Given the description of an element on the screen output the (x, y) to click on. 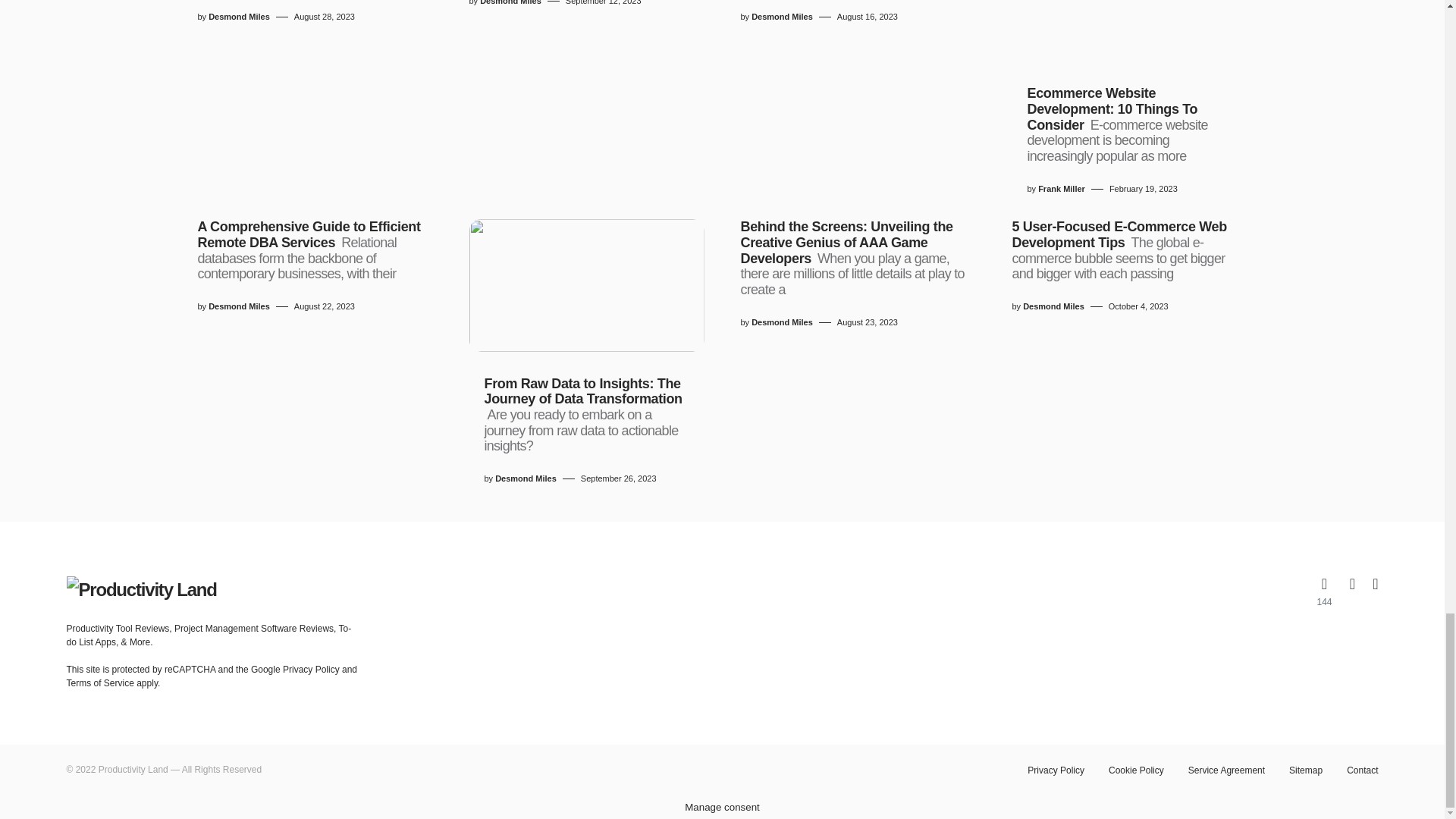
View all posts by Desmond Miles (1053, 306)
View all posts by Desmond Miles (238, 16)
View all posts by Desmond Miles (781, 322)
View all posts by Desmond Miles (510, 3)
View all posts by Frank Miller (1061, 188)
View all posts by Desmond Miles (238, 306)
View all posts by Desmond Miles (525, 478)
View all posts by Desmond Miles (781, 16)
